Given the description of an element on the screen output the (x, y) to click on. 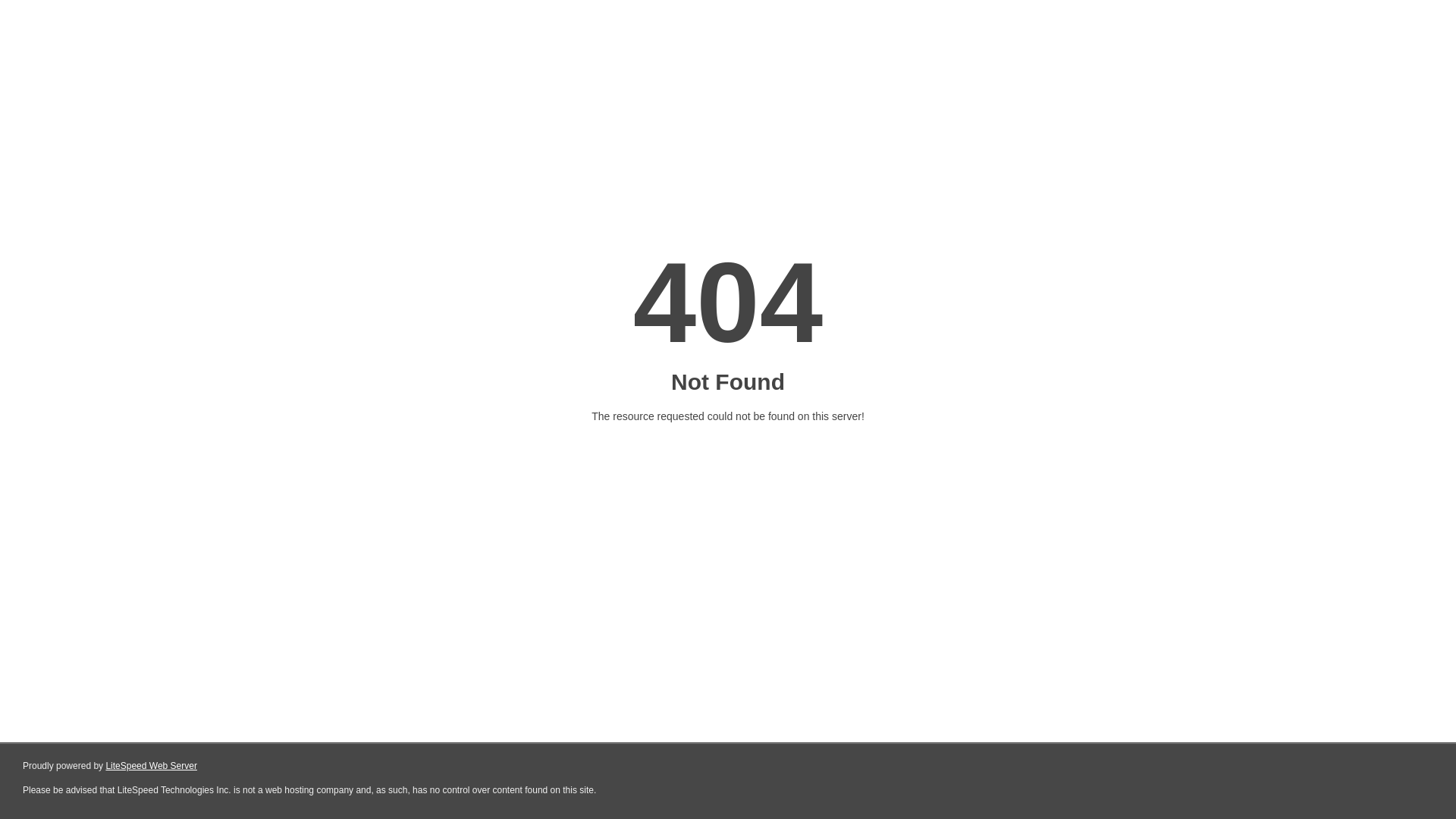
LiteSpeed Web Server Element type: text (151, 765)
